Given the description of an element on the screen output the (x, y) to click on. 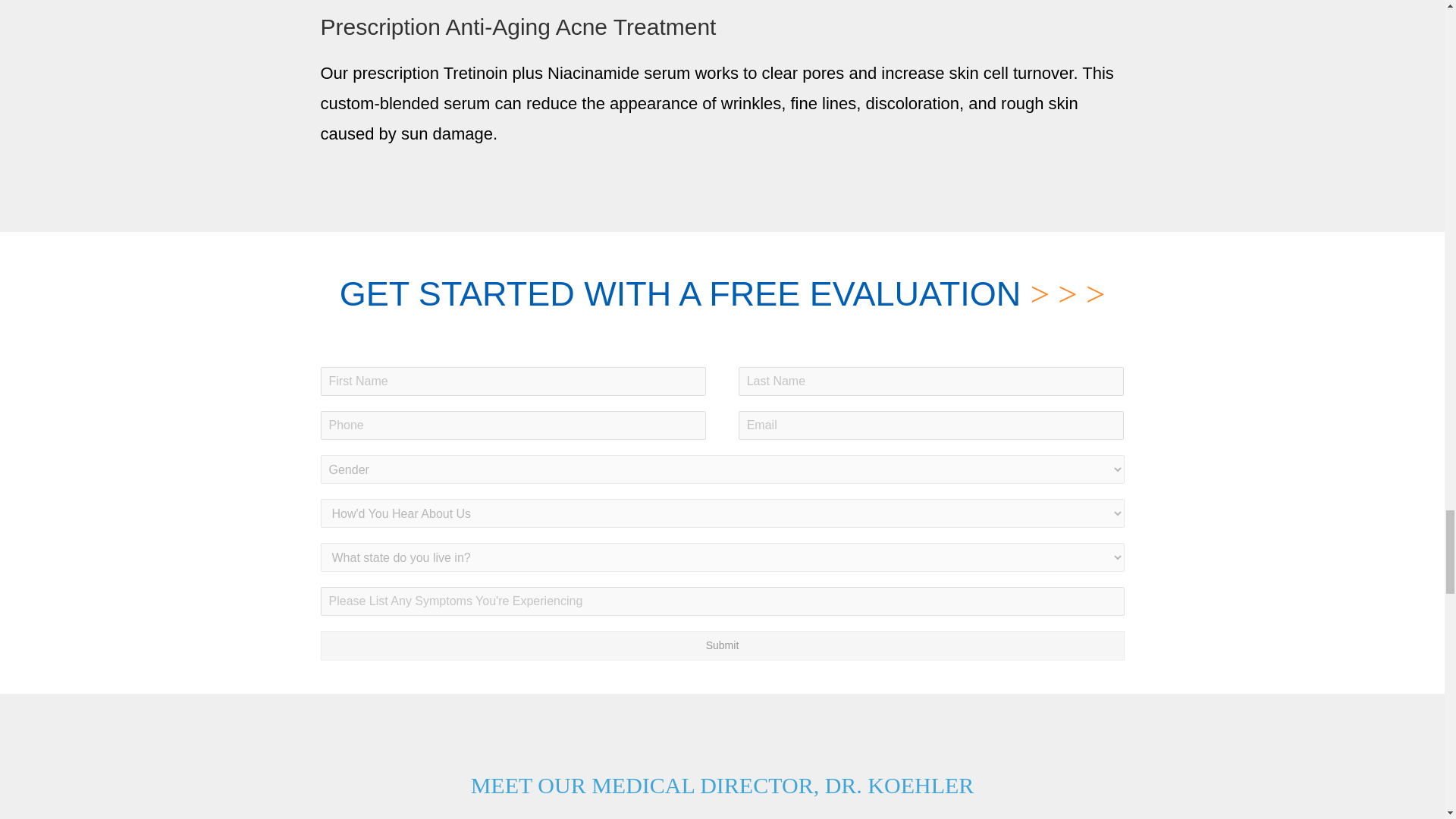
Submit (722, 645)
